Given the description of an element on the screen output the (x, y) to click on. 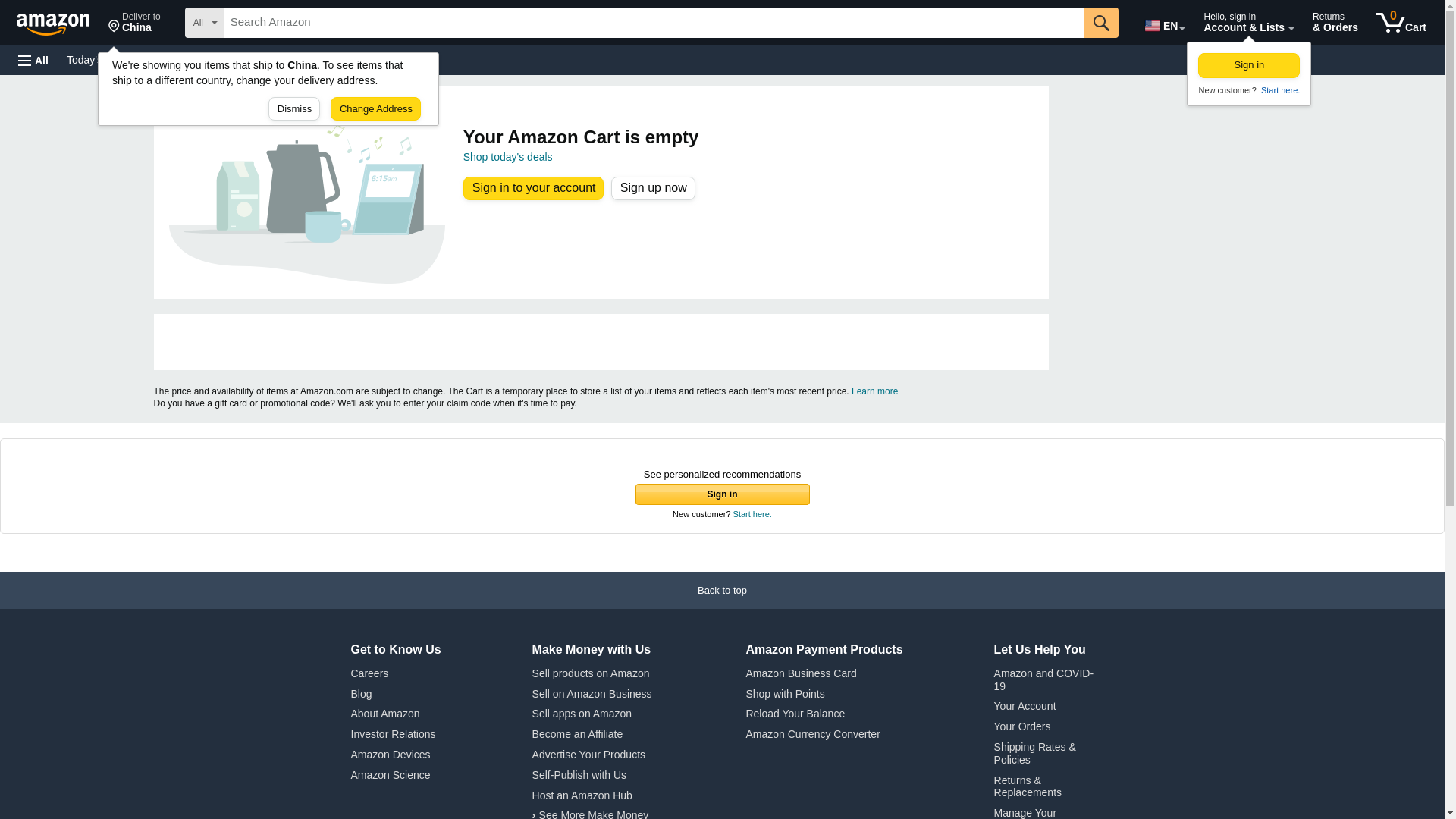
All (33, 60)
Start here. (134, 22)
Skip to main content (1279, 90)
Sell (1401, 22)
Gift Cards (60, 21)
Sign in (384, 59)
Shop today's deals (333, 59)
Go (1249, 65)
Today's Deals (508, 156)
Go (1101, 22)
Sign in to your account (99, 59)
Sign up now (1101, 22)
